Given the description of an element on the screen output the (x, y) to click on. 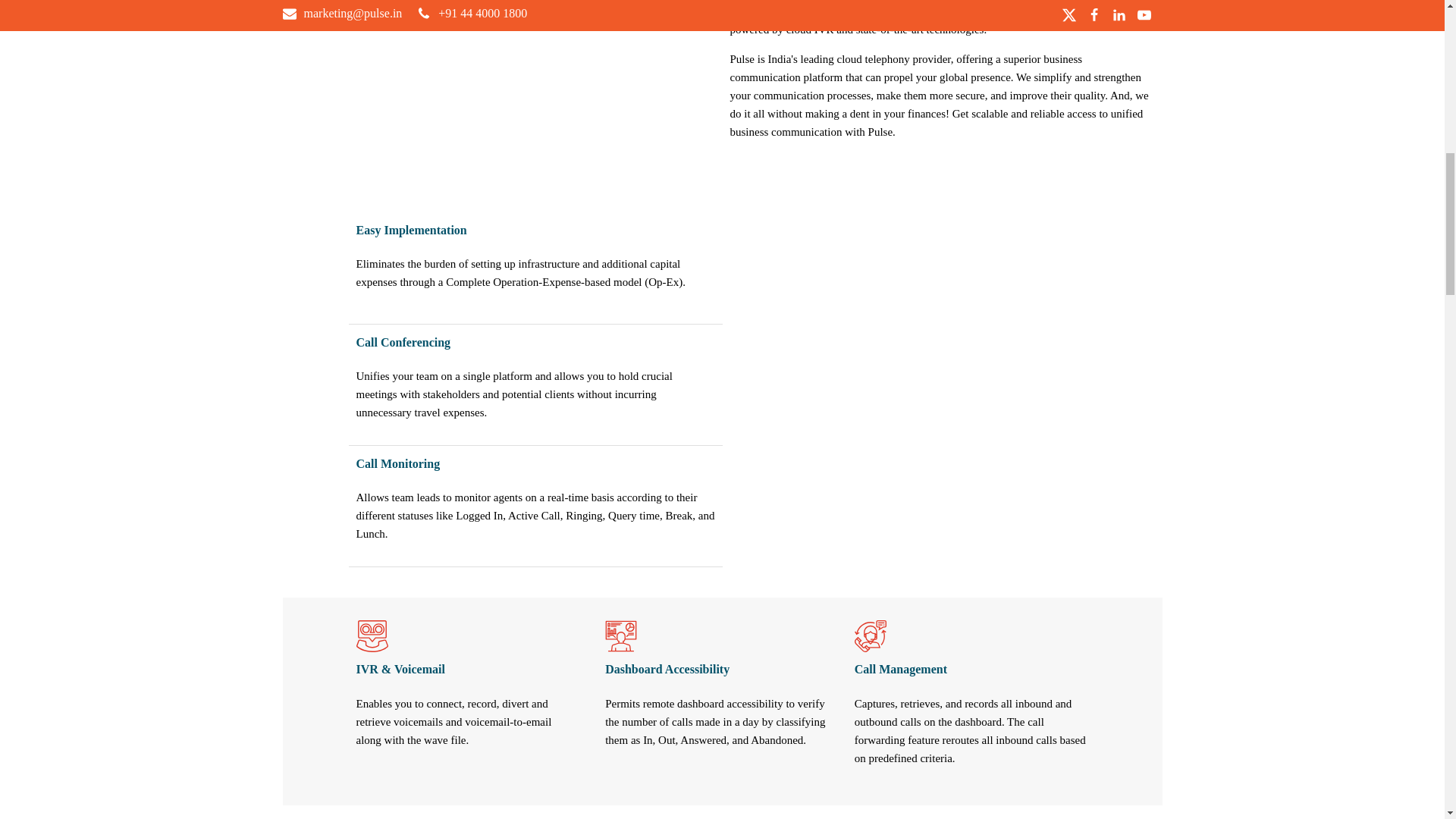
Call Conferencing (908, 388)
Call Monitoring (908, 510)
Easy Implementation (908, 267)
